Given the description of an element on the screen output the (x, y) to click on. 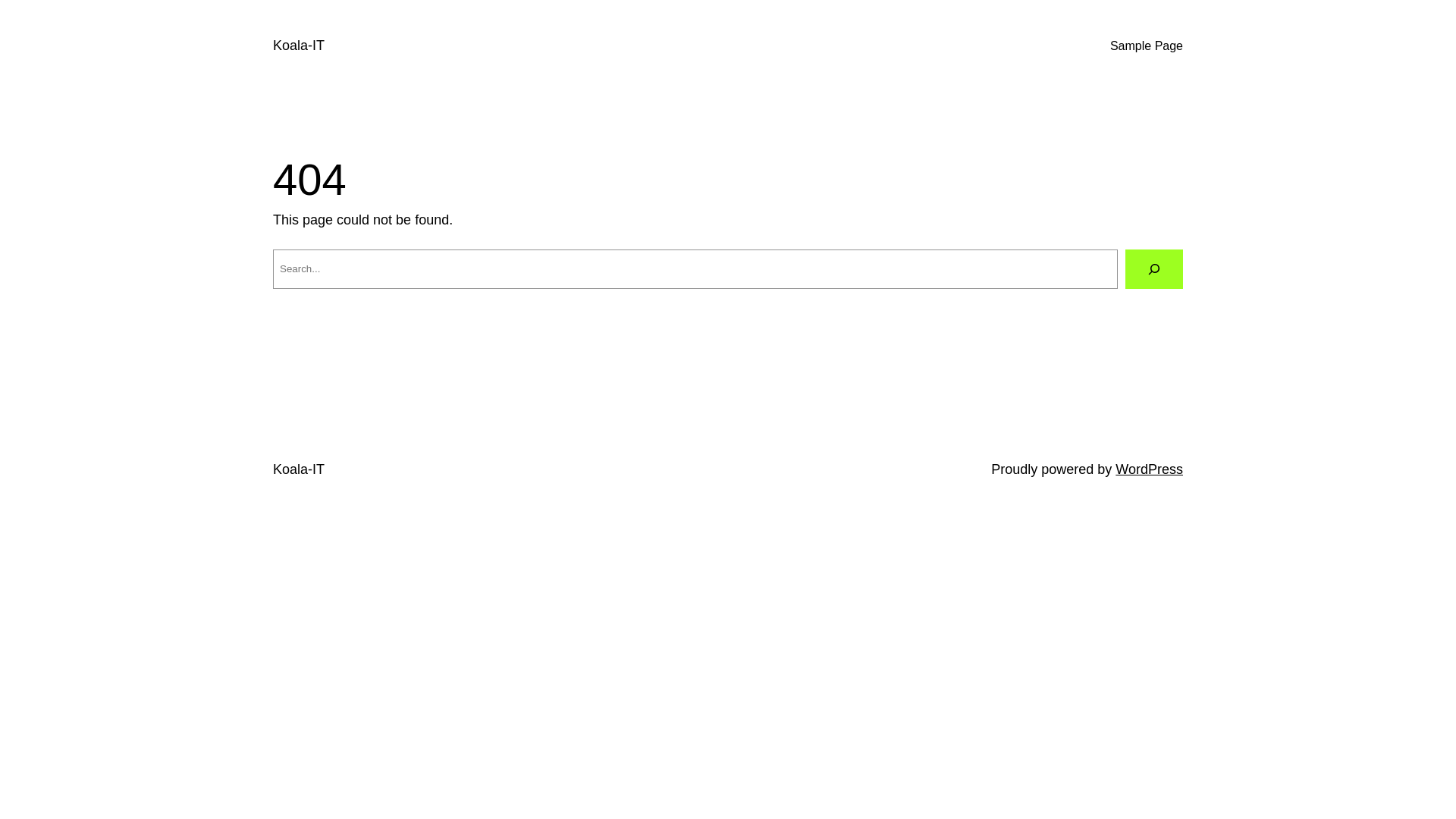
Sample Page Element type: text (1146, 46)
Koala-IT Element type: text (298, 45)
Koala-IT Element type: text (298, 468)
WordPress Element type: text (1149, 468)
